Given the description of an element on the screen output the (x, y) to click on. 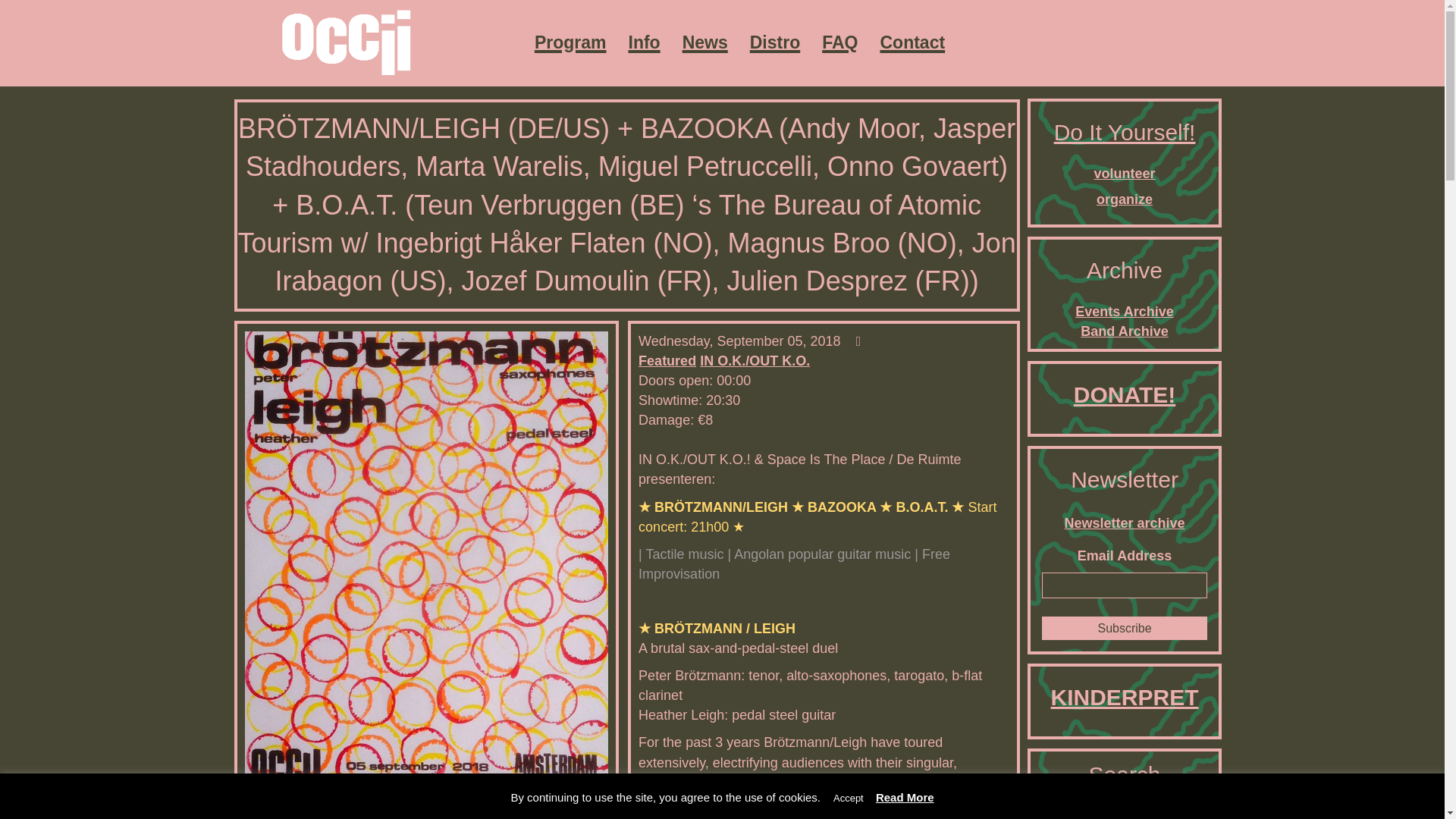
Program (570, 42)
occii-logo-2021 (344, 42)
Type and press Enter to search. (1125, 816)
FAQ (838, 42)
Featured (667, 360)
Distro (774, 42)
Info (643, 42)
DONATE! (1124, 394)
Subscribe (1125, 627)
Band Archive (1123, 331)
